Given the description of an element on the screen output the (x, y) to click on. 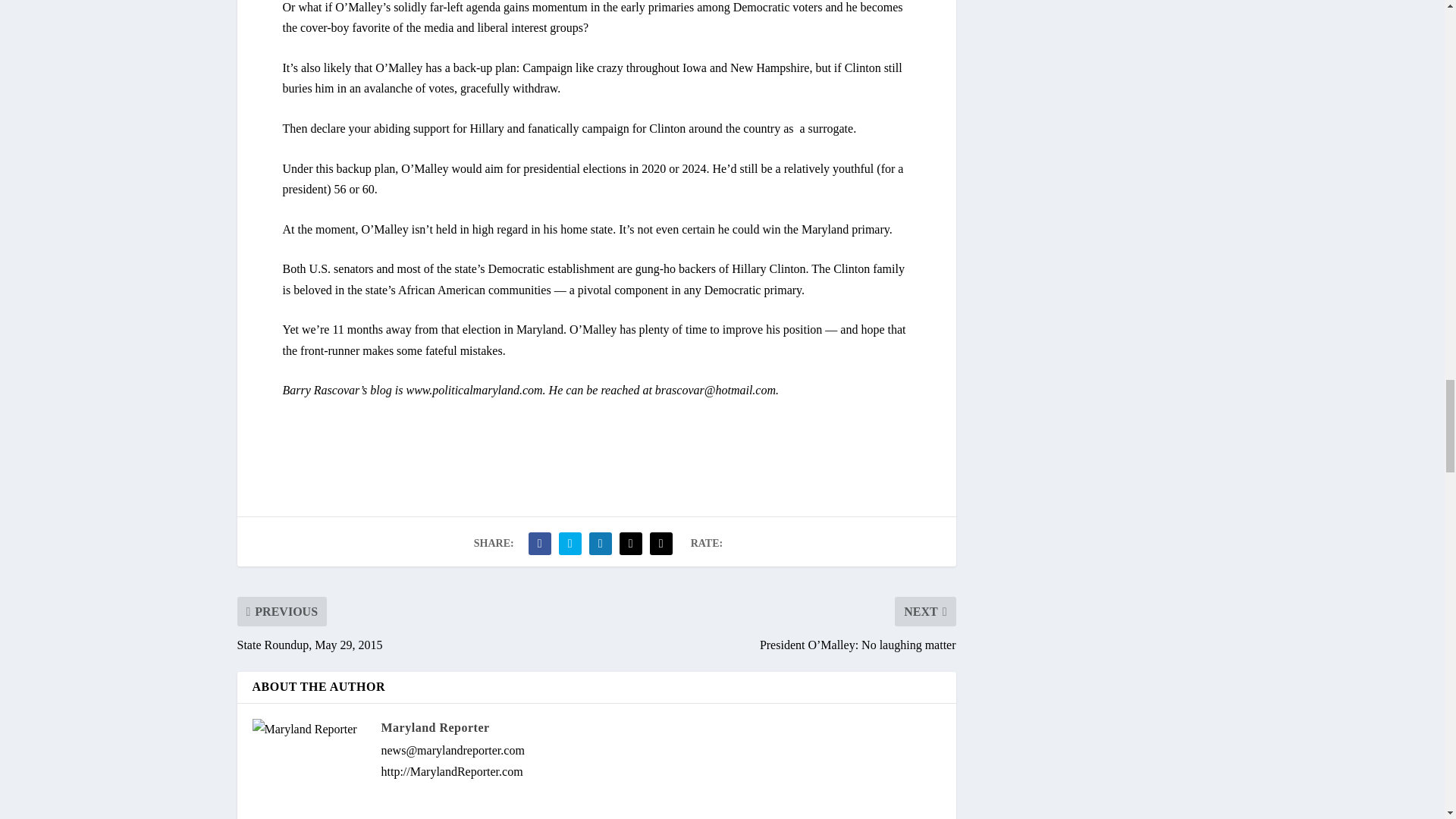
Maryland Reporter (434, 727)
View all posts by Maryland Reporter (434, 727)
